Given the description of an element on the screen output the (x, y) to click on. 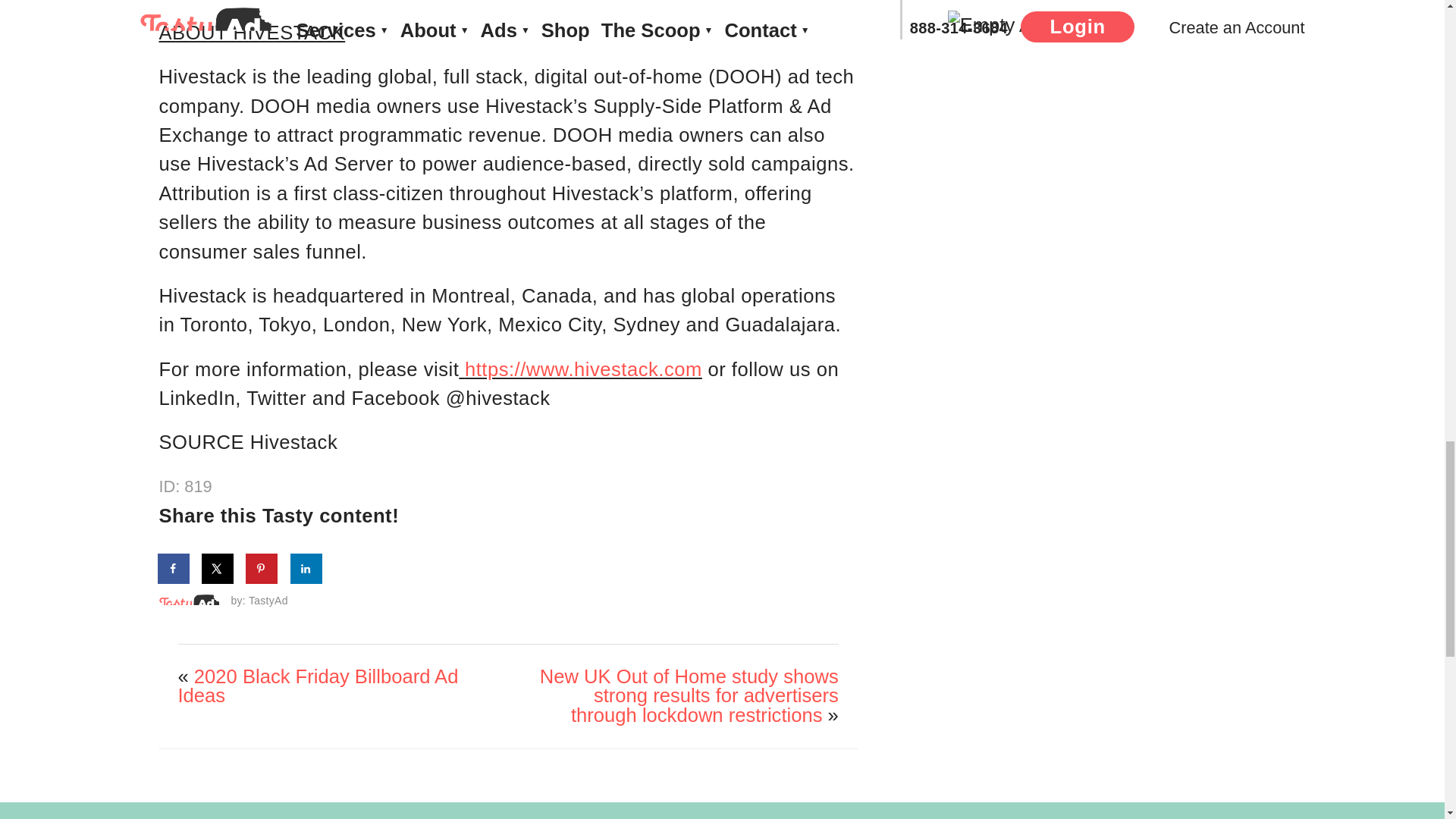
Share on X (217, 568)
Save to Pinterest (262, 568)
Share on LinkedIn (306, 568)
Share on Facebook (173, 568)
